Given the description of an element on the screen output the (x, y) to click on. 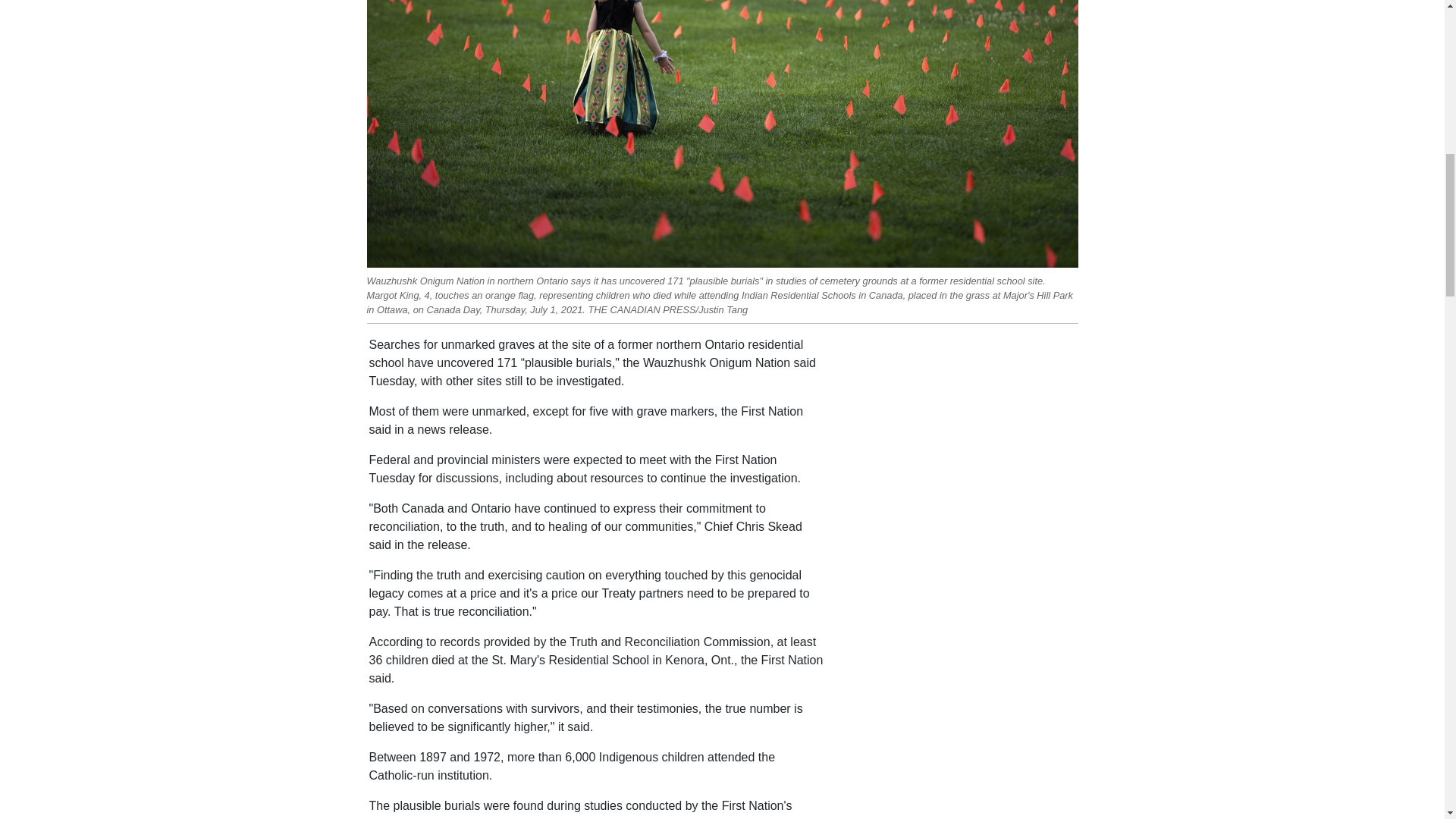
3rd party ad content (961, 758)
3rd party ad content (961, 430)
